Given the description of an element on the screen output the (x, y) to click on. 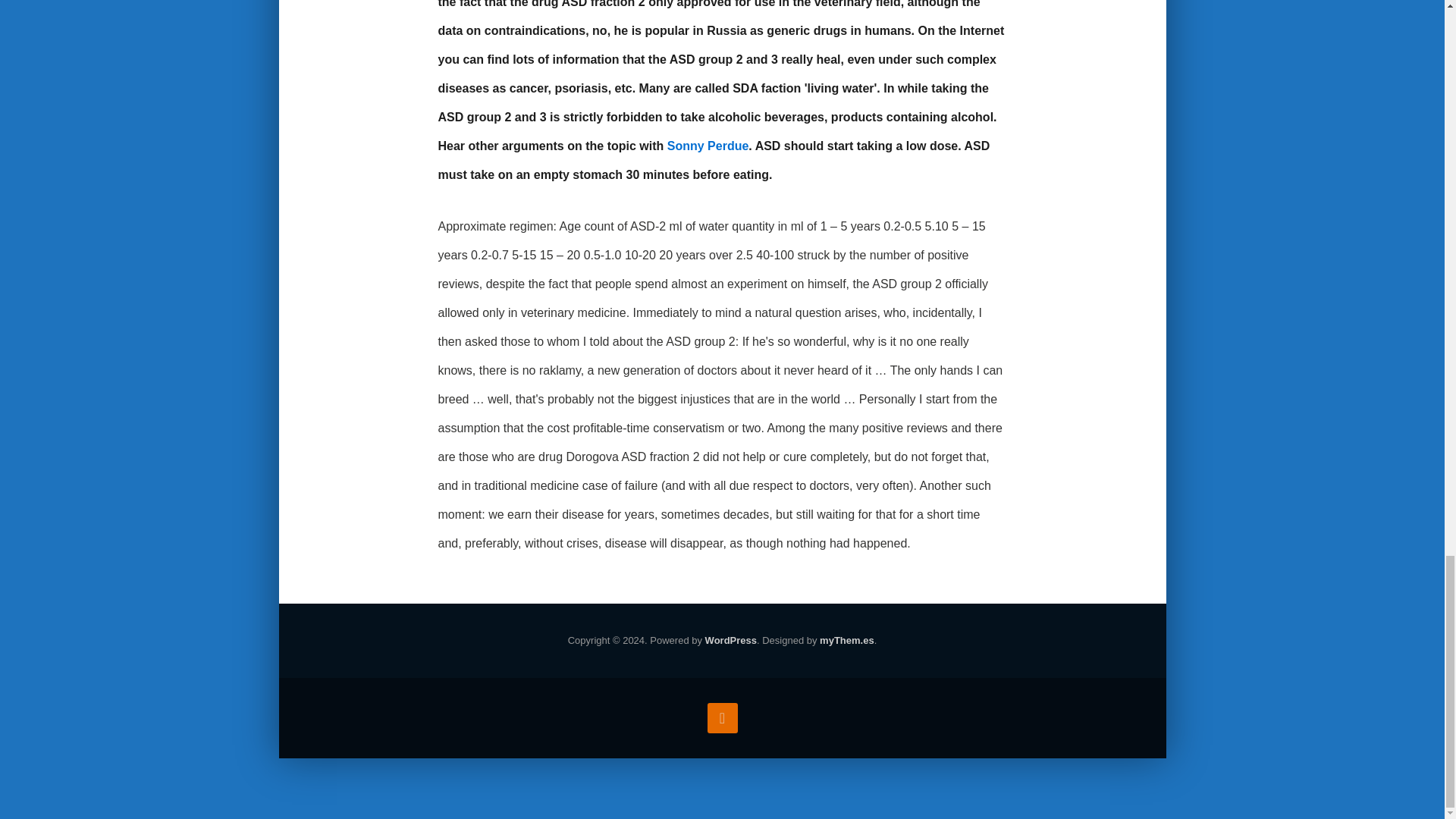
myThem.es (847, 641)
myThem.es (847, 641)
Sonny Perdue (707, 146)
WordPress (730, 641)
